Given the description of an element on the screen output the (x, y) to click on. 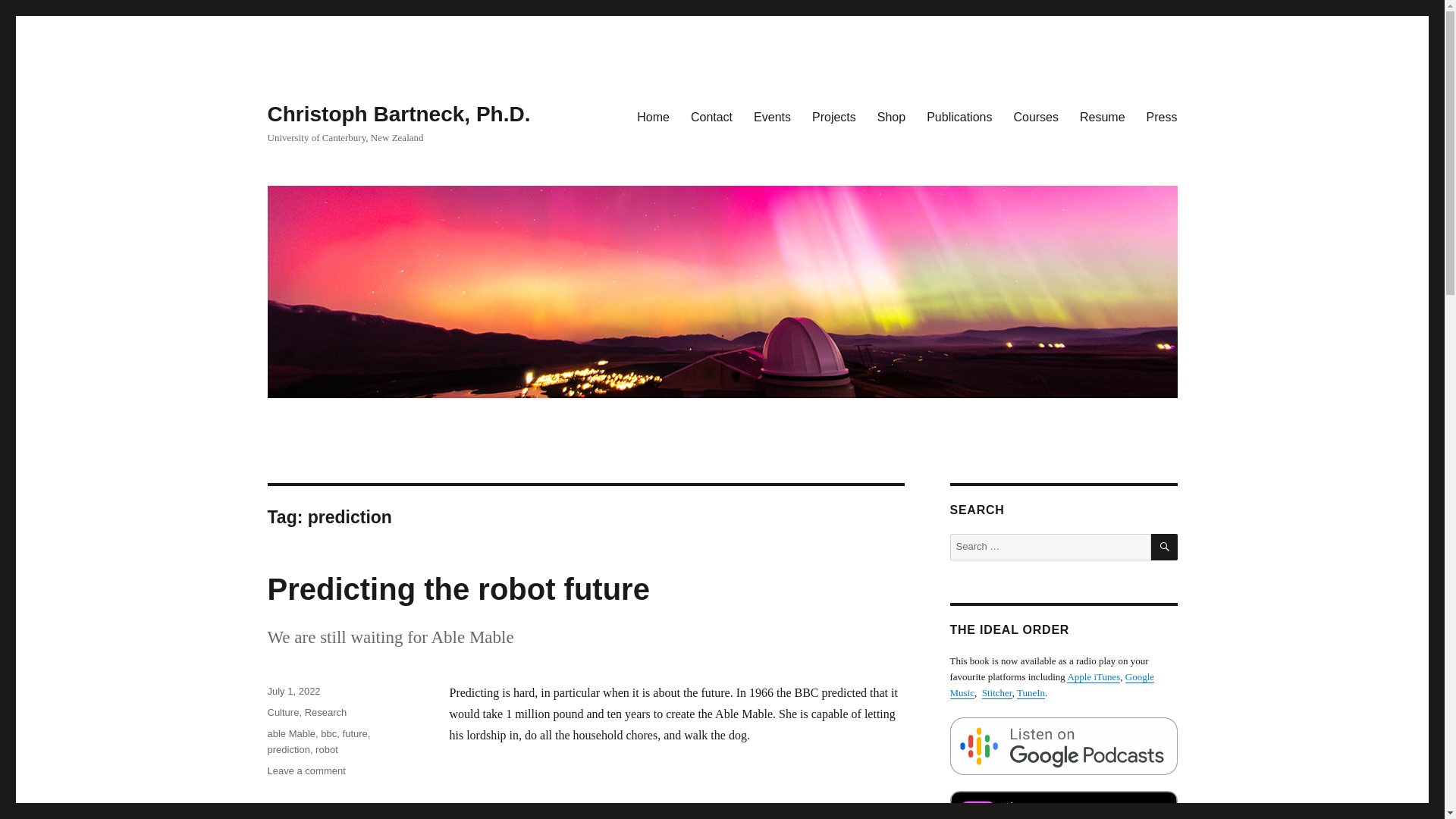
July 1, 2022 (293, 690)
Research (325, 712)
Christoph Bartneck, Ph.D. (397, 114)
bbc (328, 733)
Publications (305, 770)
Google Music (959, 116)
Shop (1051, 684)
Culture (890, 116)
Press (282, 712)
Apple iTunes (1161, 116)
Courses (1093, 676)
Home (1035, 116)
prediction (652, 116)
Projects (287, 749)
